Given the description of an element on the screen output the (x, y) to click on. 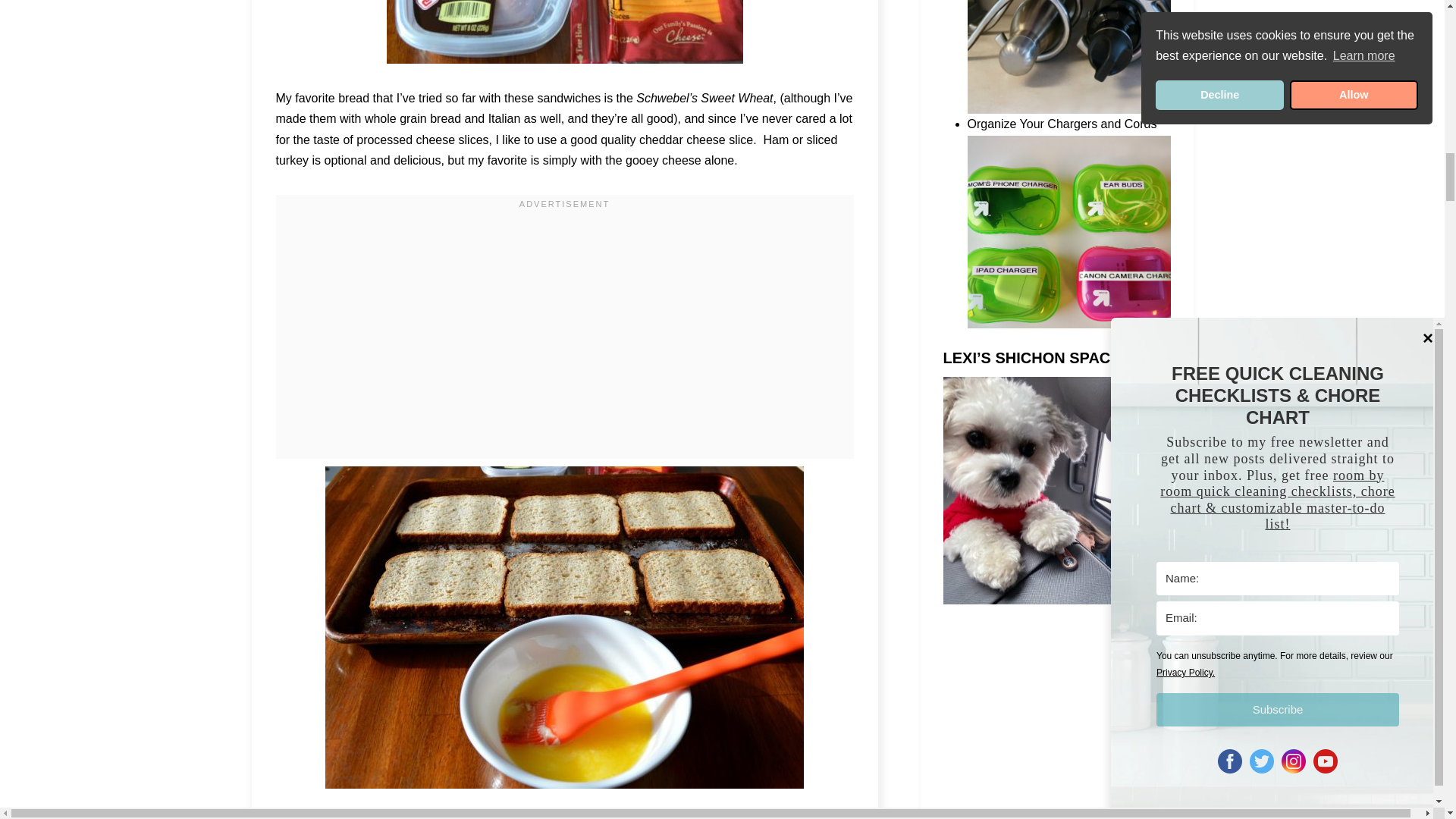
Grilled Cheese Made in the Oven (564, 31)
Organize Your Chargers and Cords (1069, 240)
Water Bottle Holder (1069, 65)
